Given the description of an element on the screen output the (x, y) to click on. 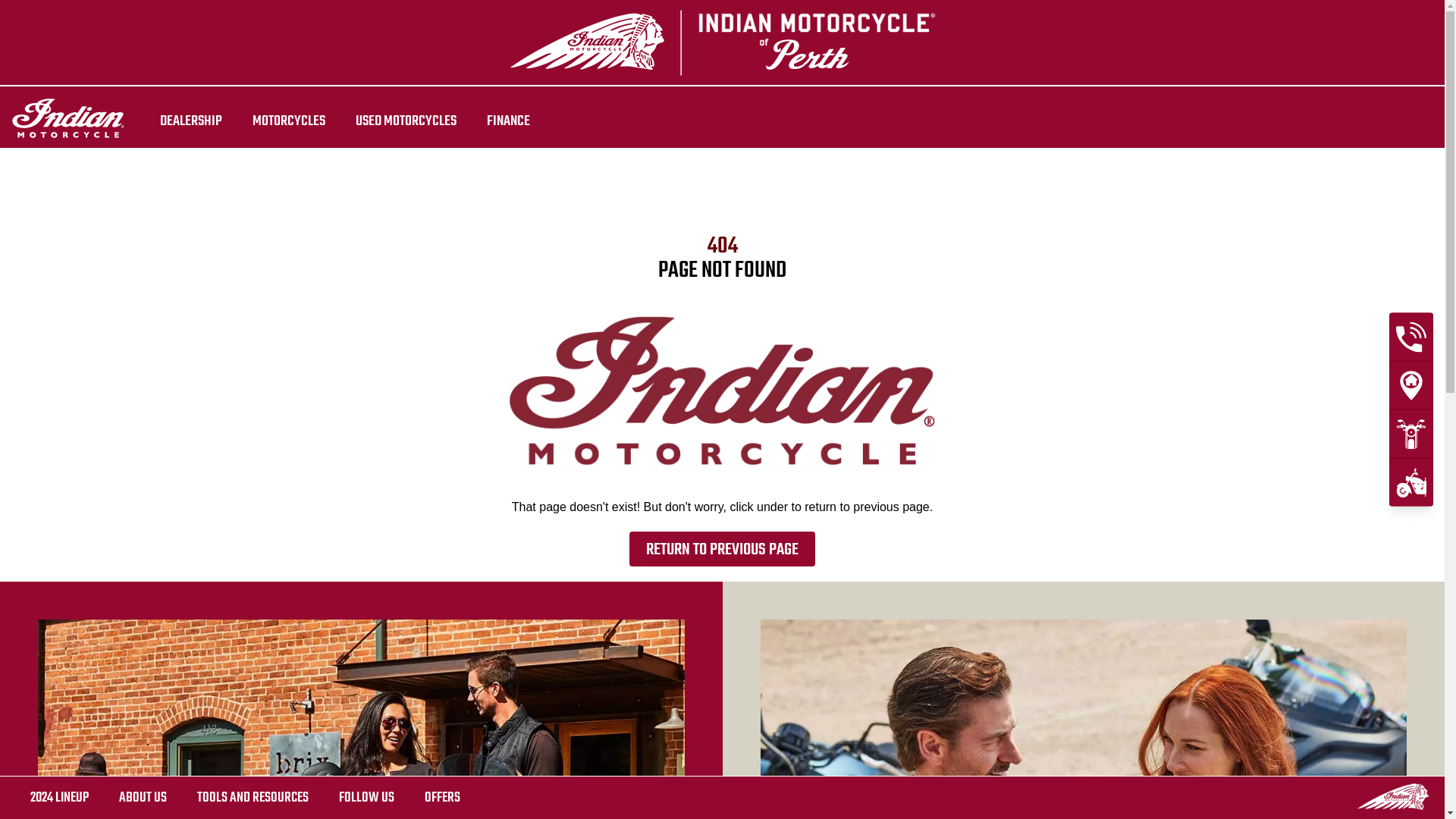
2024 LINEUP Element type: text (59, 797)
FOLLOW US Element type: text (366, 797)
OFFERS Element type: text (442, 797)
USED MOTORCYCLES Element type: text (405, 121)
DEALERSHIP Element type: text (190, 121)
TOOLS AND RESOURCES Element type: text (252, 797)
ABOUT US Element type: text (142, 797)
MOTORCYCLES Element type: text (288, 121)
FINANCE Element type: text (508, 121)
Indian Motorcycle Element type: hover (1392, 795)
RETURN TO PREVIOUS PAGE Element type: text (722, 548)
